Given the description of an element on the screen output the (x, y) to click on. 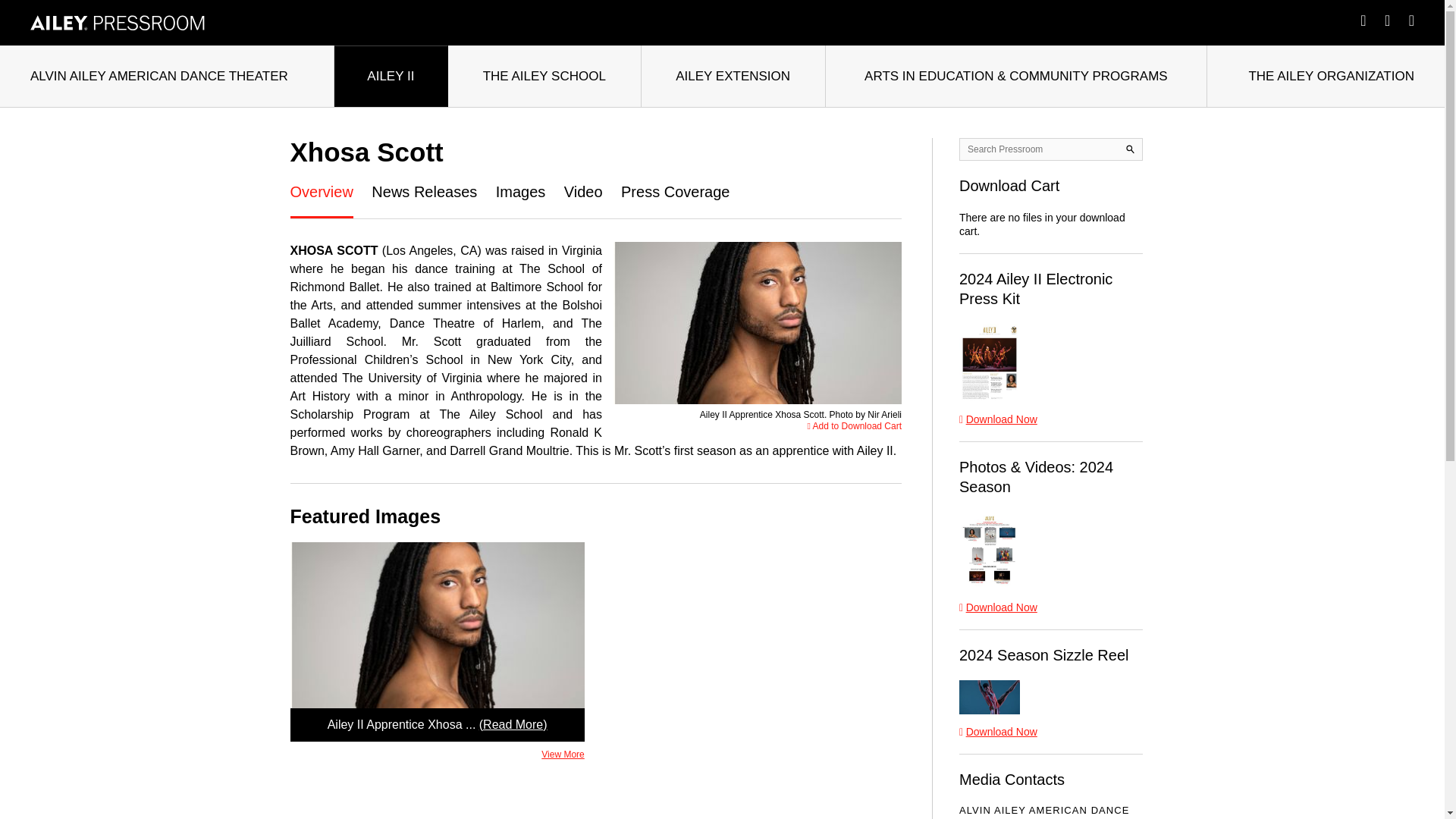
Ailey II 2023 -2024 Season B-roll (989, 697)
ALVIN AILEY AMERICAN DANCE THEATER (166, 76)
Ailey Pressroom (117, 22)
